Given the description of an element on the screen output the (x, y) to click on. 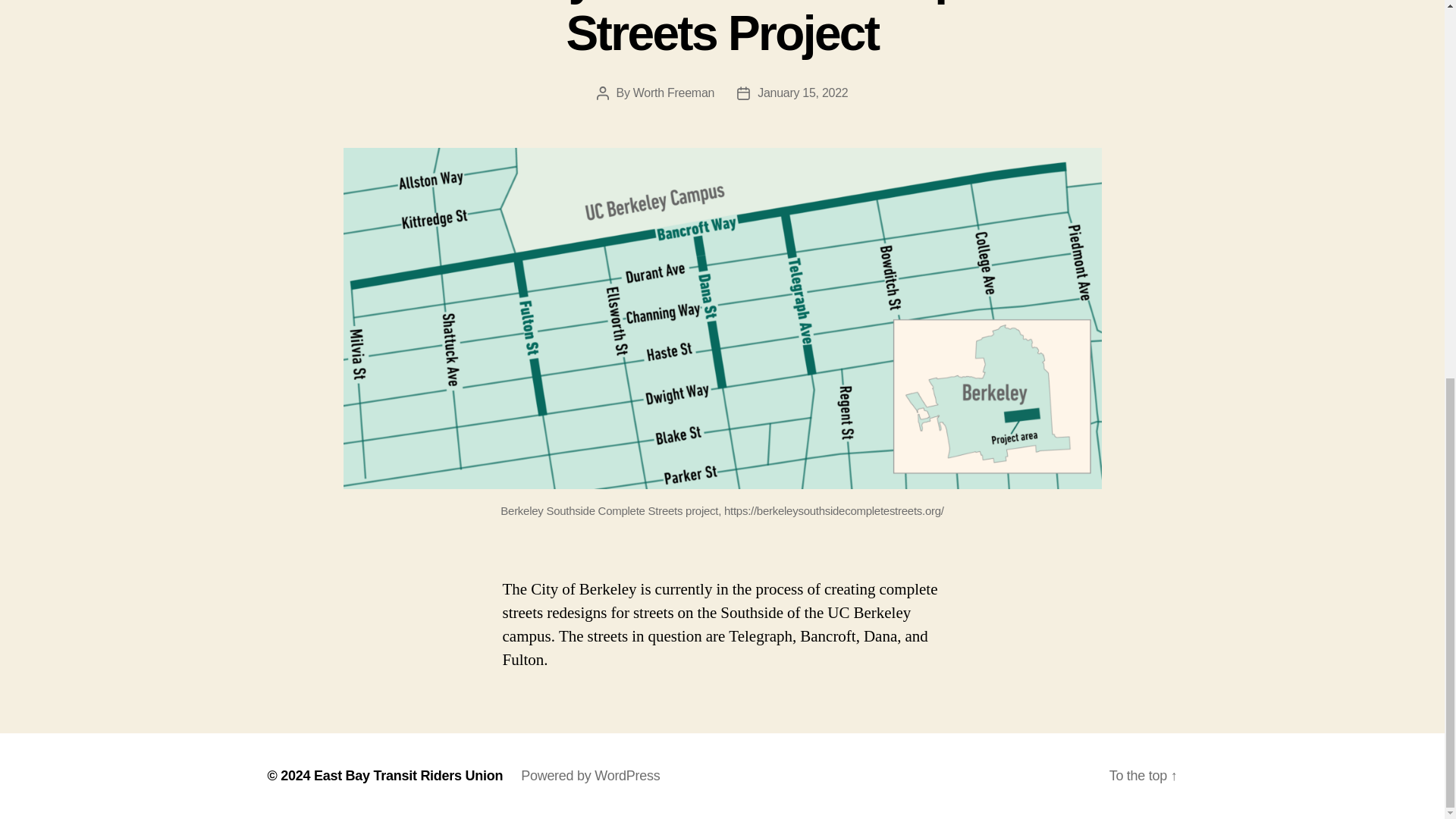
Berkeley Southside Complete Streets Project (722, 30)
East Bay Transit Riders Union (408, 775)
January 15, 2022 (802, 92)
Powered by WordPress (590, 775)
Worth Freeman (673, 92)
